Given the description of an element on the screen output the (x, y) to click on. 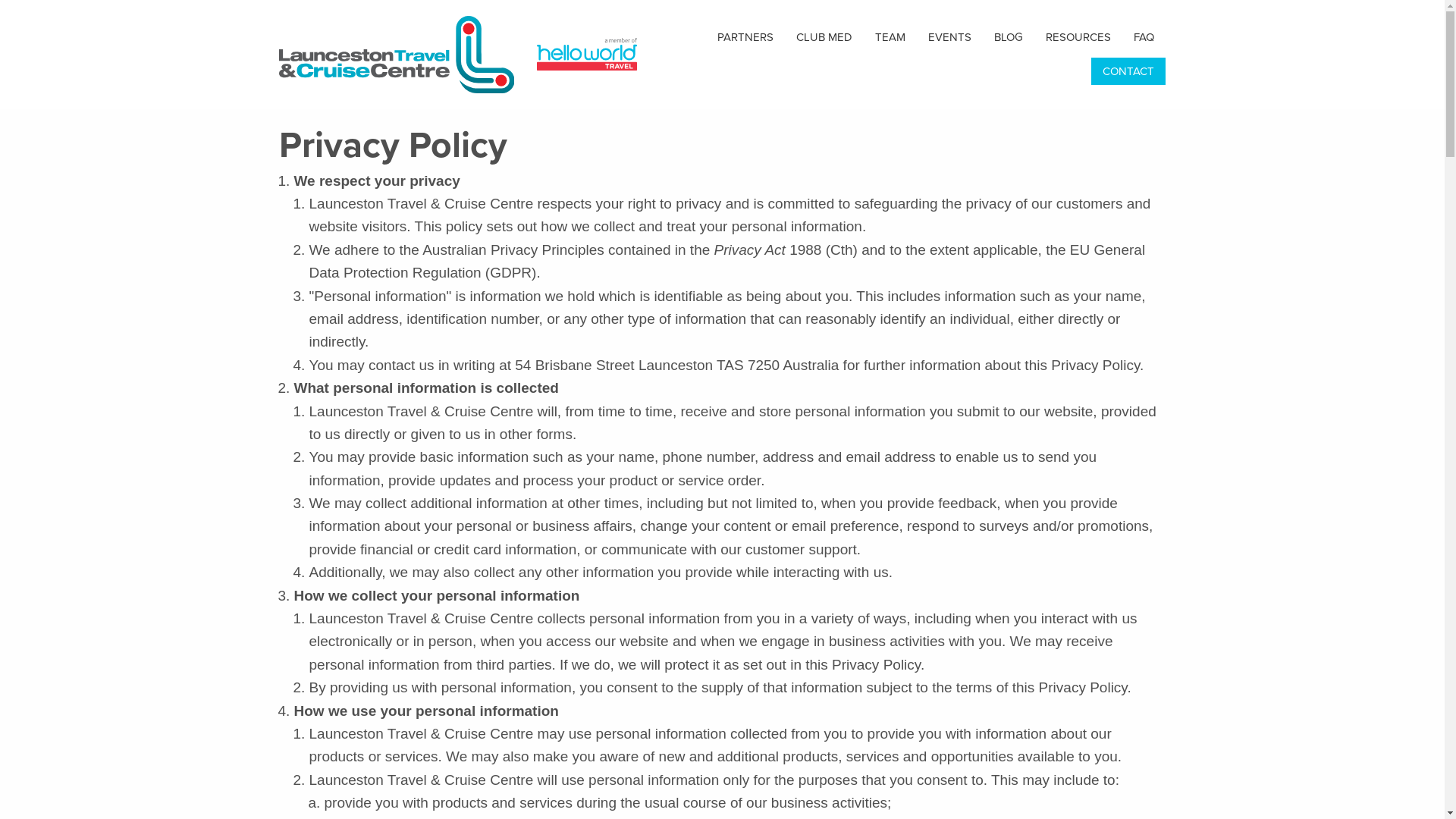
RESOURCES Element type: text (1078, 36)
PARTNERS Element type: text (745, 36)
CONTACT Element type: text (1128, 70)
Launceston Travel & Cruise Centre - Home Page Element type: hover (402, 53)
EVENTS Element type: text (949, 36)
CLUB MED Element type: text (823, 36)
BLOG Element type: text (1008, 36)
FAQ Element type: text (1143, 36)
TEAM Element type: text (889, 36)
